Given the description of an element on the screen output the (x, y) to click on. 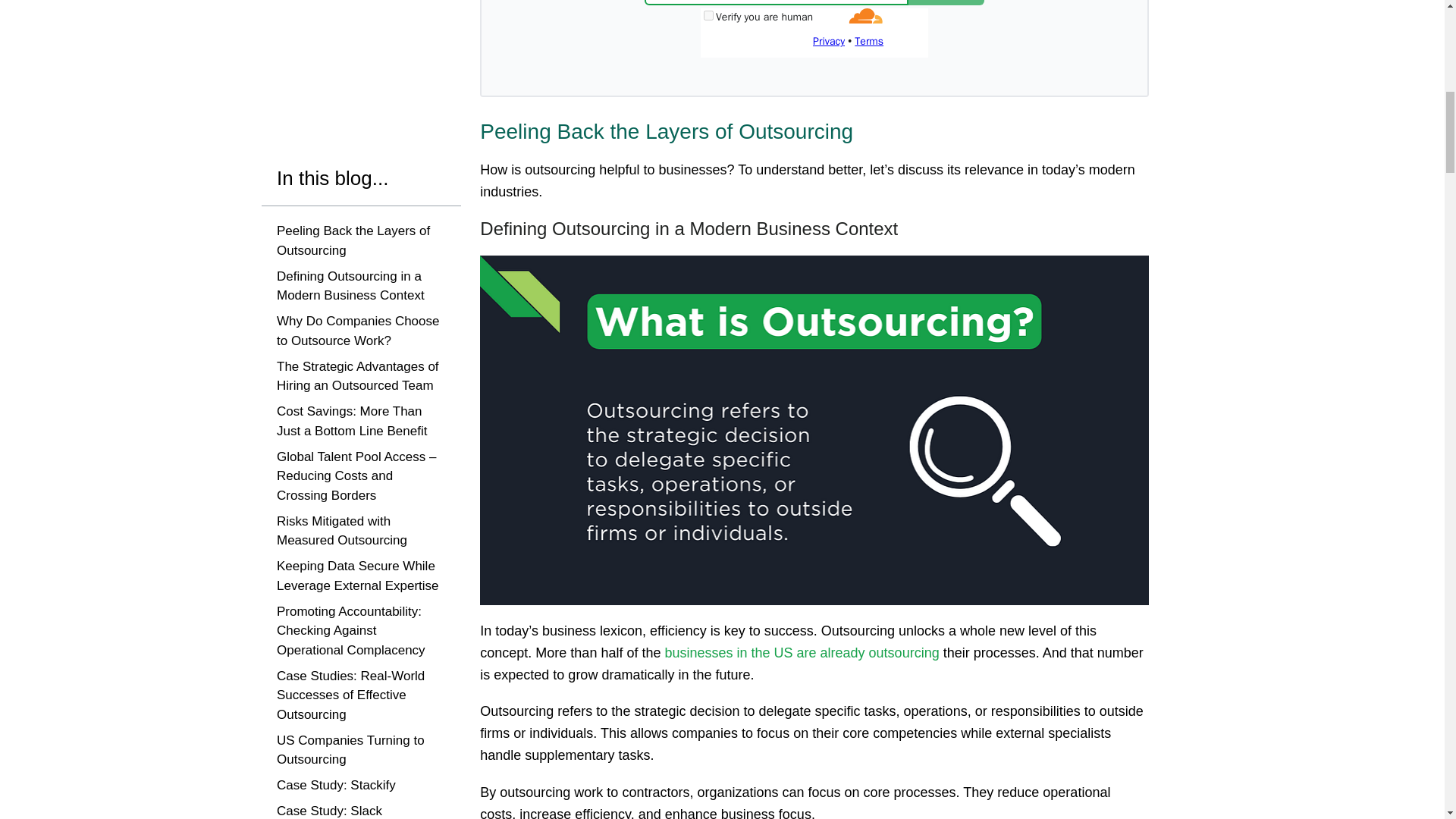
Case Study: Slack (328, 1)
Contact Full Scale Today (347, 63)
Scale Your Team with Full Scale (360, 27)
